Given the description of an element on the screen output the (x, y) to click on. 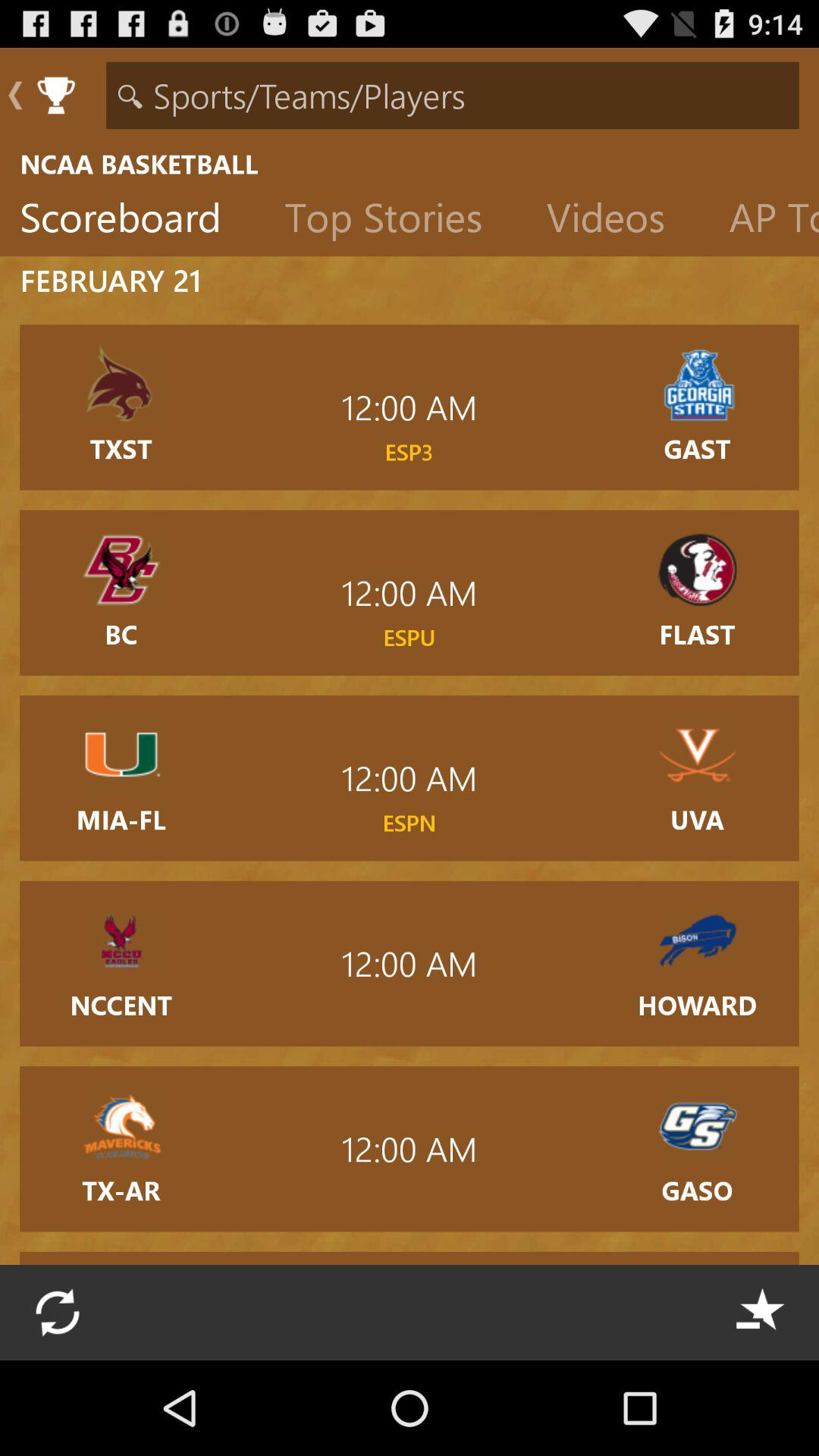
open icon to the right of scoreboard item (395, 220)
